Given the description of an element on the screen output the (x, y) to click on. 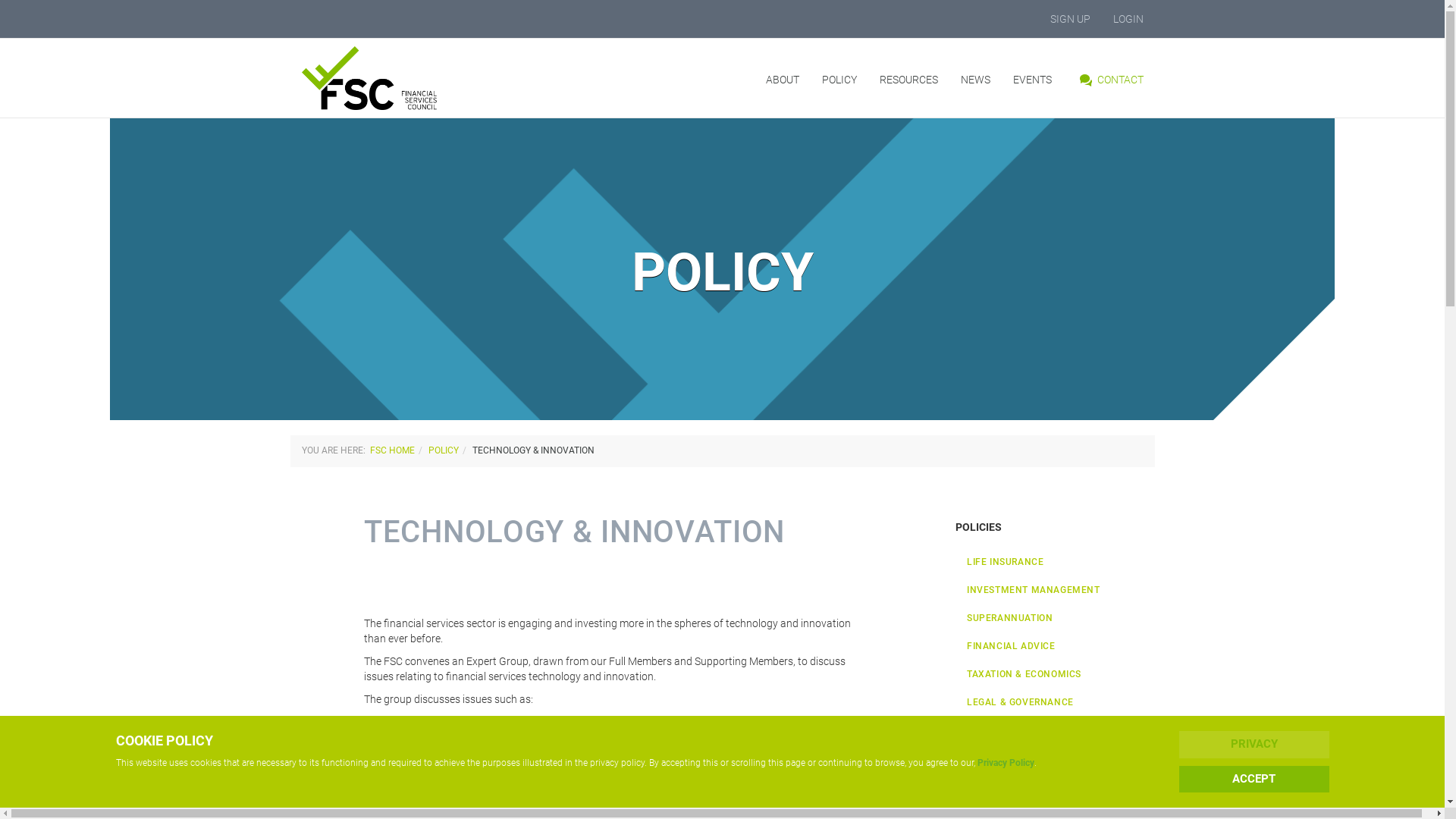
LEGAL & GOVERNANCE Element type: text (1054, 702)
INVESTMENT MANAGEMENT Element type: text (1054, 590)
LIFE INSURANCE Element type: text (1054, 562)
ACCEPT Element type: text (1253, 778)
TECHNOLOGY & INNOVATION Element type: text (1054, 730)
NEWS Element type: text (975, 79)
FINANCIAL ADVICE Element type: text (1054, 646)
TAXATION & ECONOMICS Element type: text (1054, 674)
LOGIN Element type: text (1127, 18)
ABOUT Element type: text (781, 79)
SIGN UP Element type: text (1069, 18)
EVENTS Element type: text (1031, 79)
FSC HOME Element type: text (392, 450)
PRIVACY Element type: text (1253, 744)
POLICY Element type: text (442, 450)
RESOURCES Element type: text (907, 79)
POLICY Element type: text (838, 79)
FSC Element type: hover (398, 77)
CONTACT Element type: text (1108, 79)
SUPERANNUATION Element type: text (1054, 618)
Privacy Policy Element type: text (1004, 762)
